Given the description of an element on the screen output the (x, y) to click on. 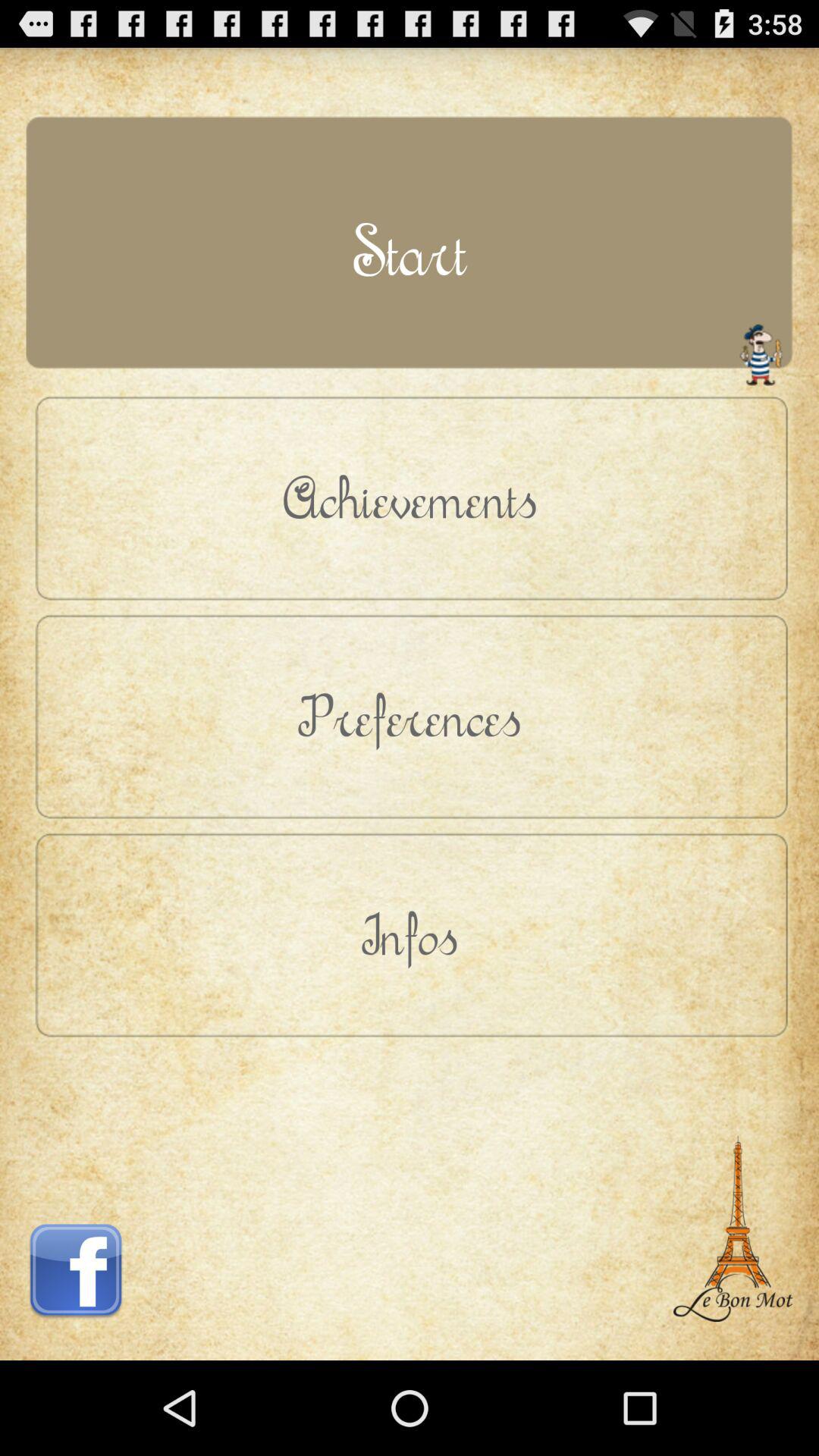
turn off the icon above infos icon (409, 716)
